Given the description of an element on the screen output the (x, y) to click on. 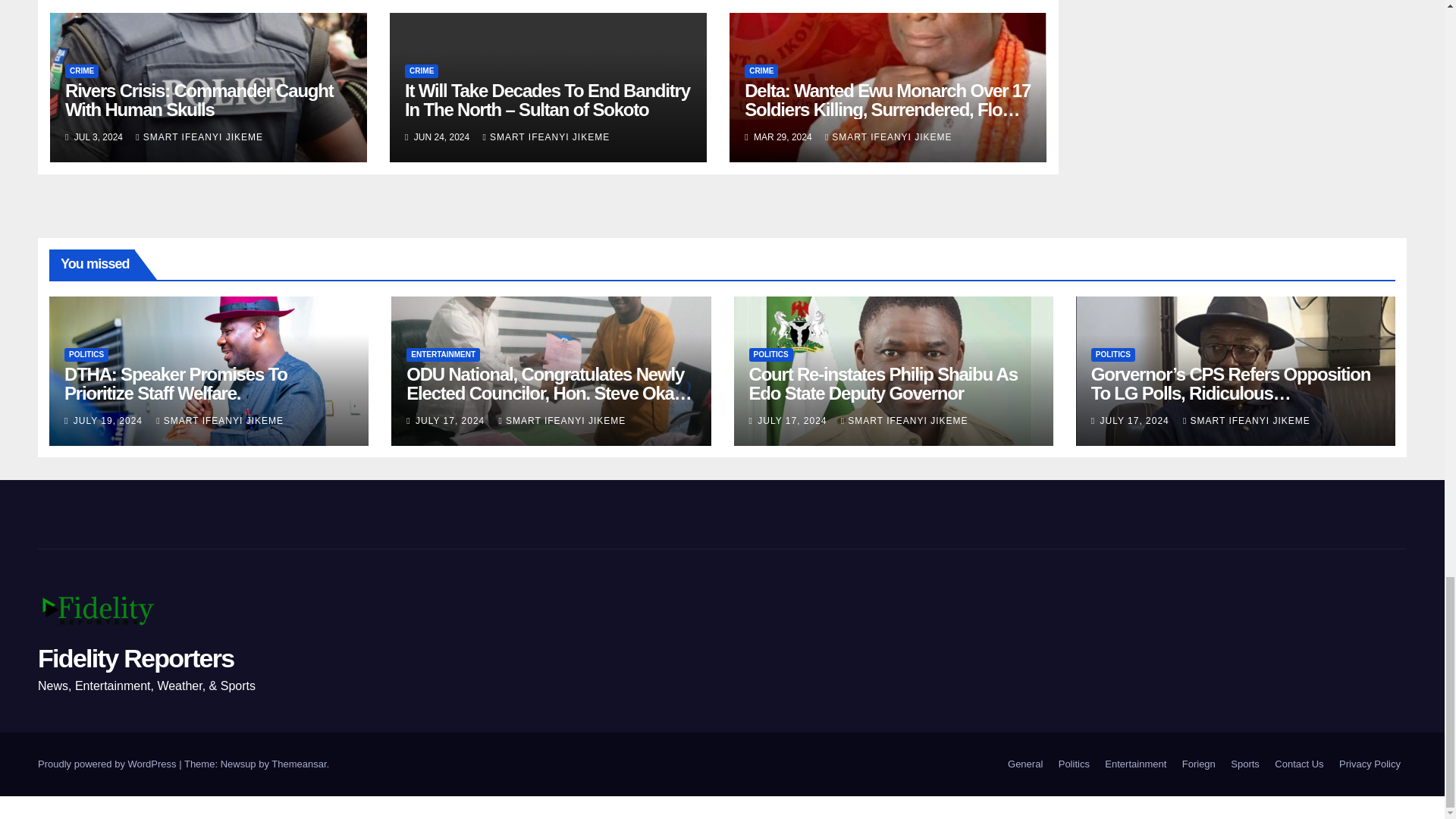
SMART IFEANYI JIKEME (888, 136)
Rivers Crisis: Commander Caught With Human Skulls (199, 99)
CRIME (760, 70)
SMART IFEANYI JIKEME (199, 136)
CRIME (82, 70)
POLITICS (85, 354)
SMART IFEANYI JIKEME (546, 136)
CRIME (421, 70)
